Given the description of an element on the screen output the (x, y) to click on. 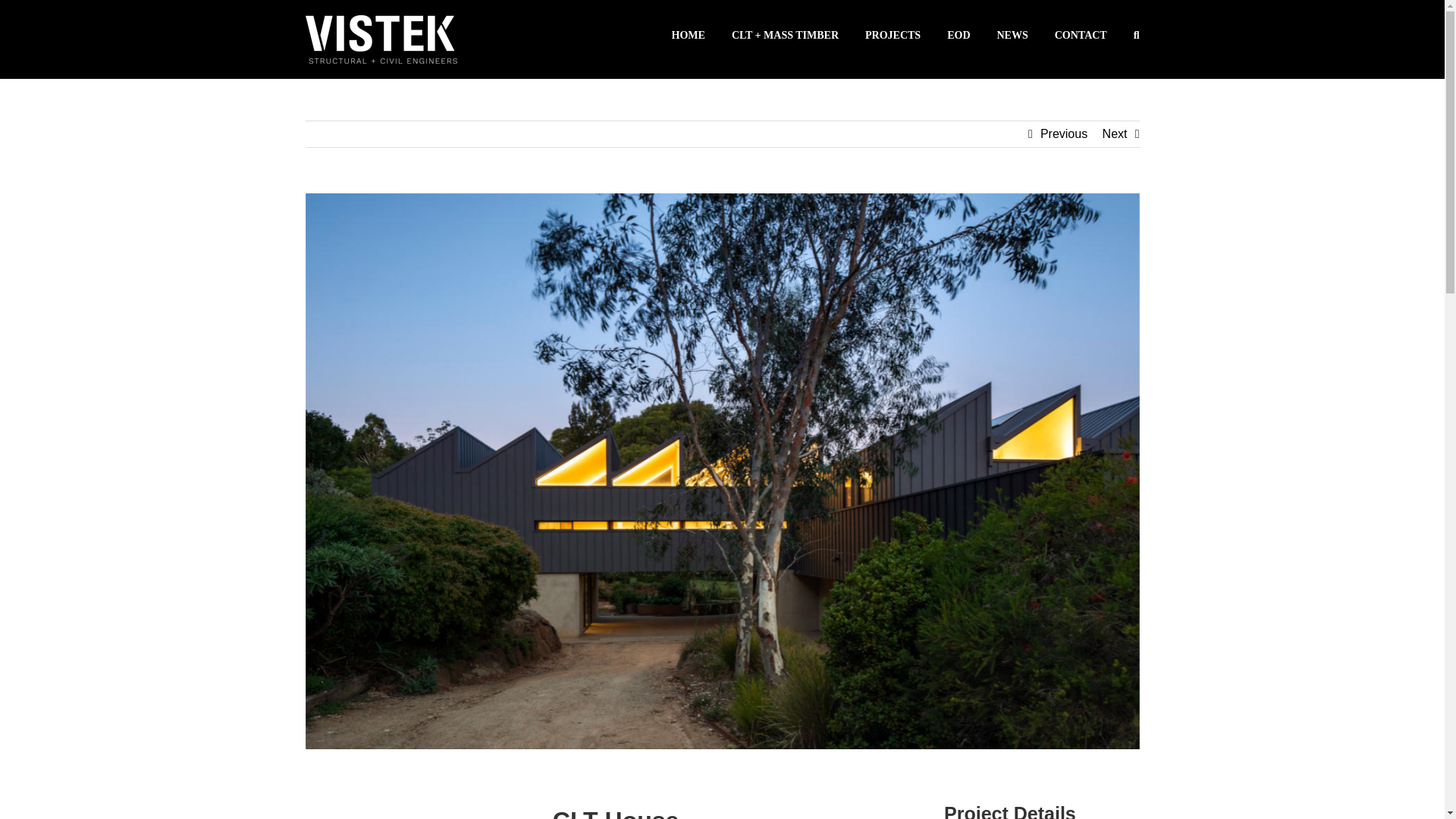
Previous (1064, 134)
CLT House (615, 810)
Next (1114, 134)
